Given the description of an element on the screen output the (x, y) to click on. 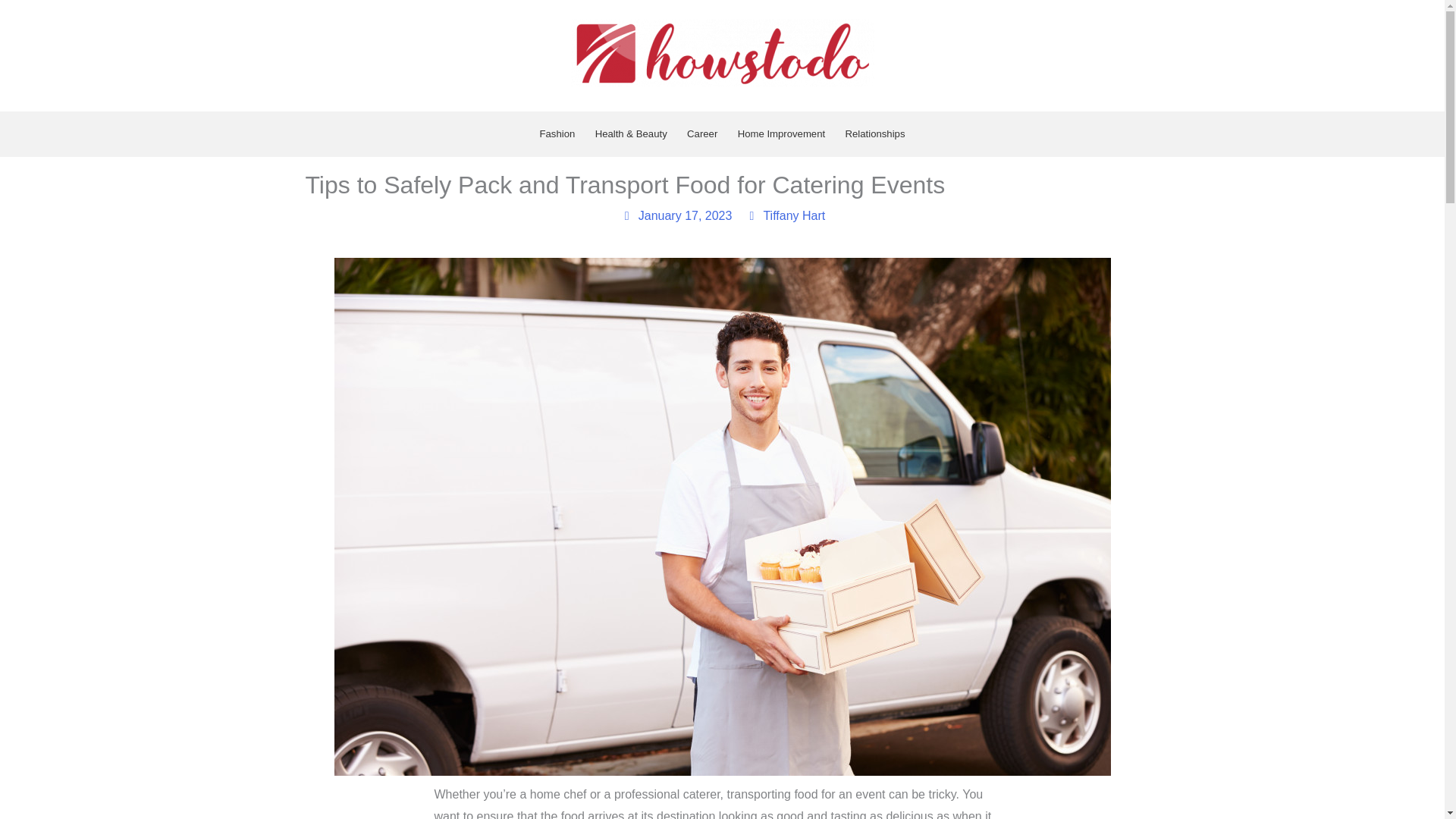
Tiffany Hart (784, 215)
Home Improvement (780, 134)
Career (702, 134)
Relationships (874, 134)
January 17, 2023 (676, 215)
Fashion (557, 134)
